Given the description of an element on the screen output the (x, y) to click on. 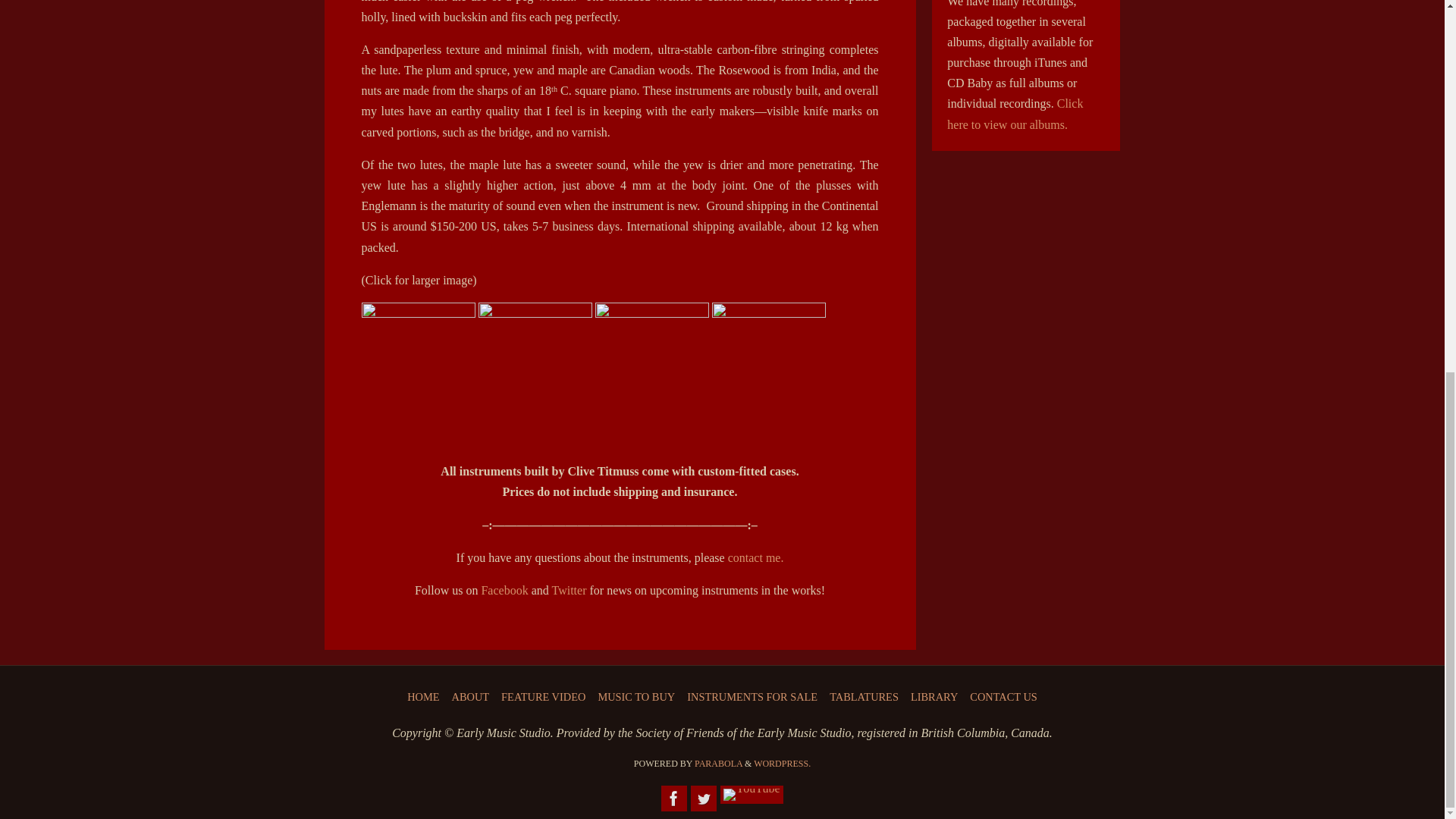
MUSIC TO BUY (635, 696)
CONTACT US (1002, 696)
Twitter (703, 798)
ABOUT (470, 696)
HOME (423, 696)
FEATURE VIDEO (542, 696)
YouTube (751, 794)
LIBRARY (934, 696)
INSTRUMENTS FOR SALE (751, 696)
Click here to view our albums. (1015, 113)
